Given the description of an element on the screen output the (x, y) to click on. 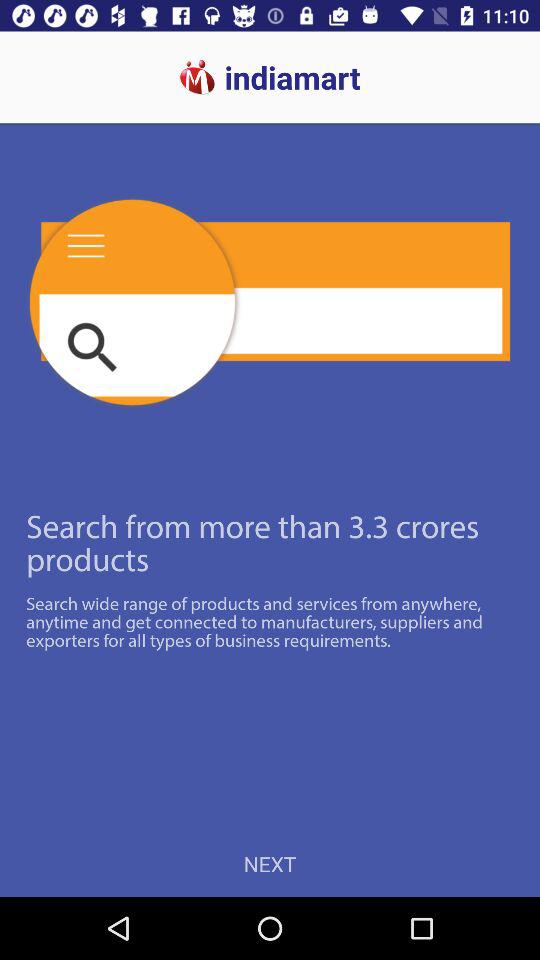
flip to next (270, 863)
